Given the description of an element on the screen output the (x, y) to click on. 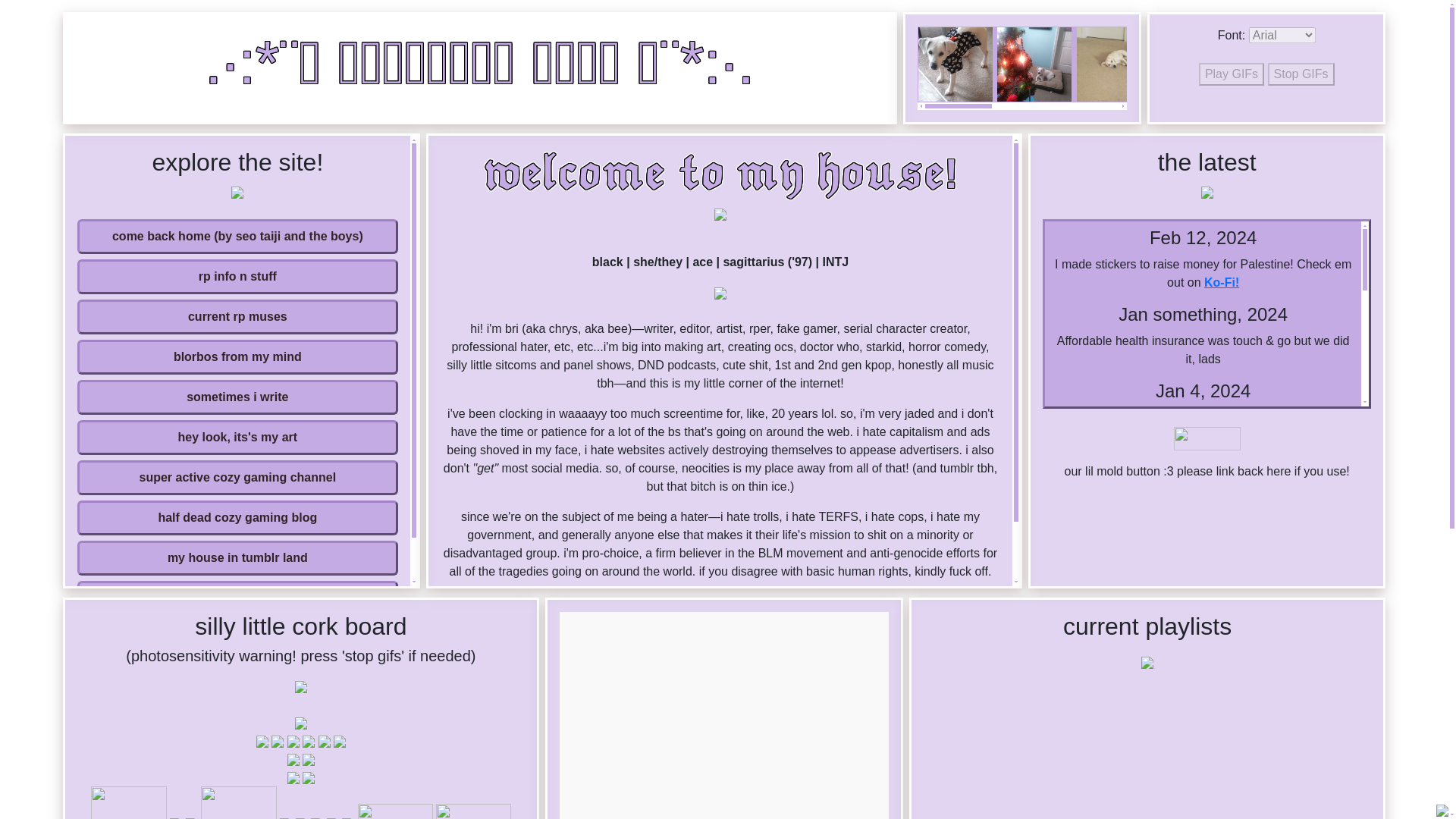
Play GIFs (1230, 74)
i'm an editor by trade lol (237, 597)
sometimes i write (237, 397)
Ko-Fi! (1221, 282)
Stop GIFs (1301, 74)
my house in tumblr land (237, 557)
current rp muses (237, 316)
depechemold (723, 715)
super active cozy gaming channel (237, 477)
blorbos from my mind (237, 356)
